Given the description of an element on the screen output the (x, y) to click on. 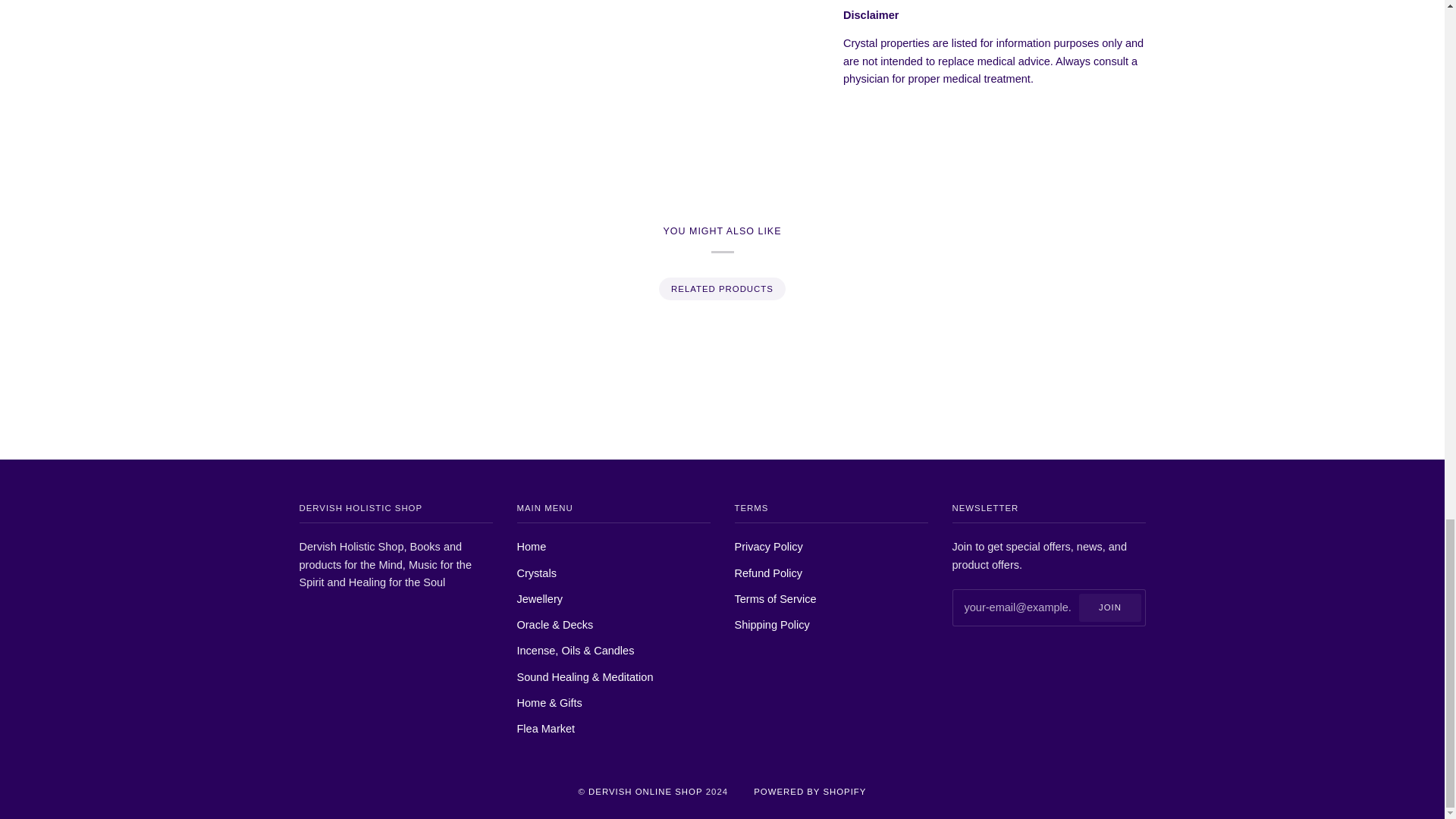
RELATED PRODUCTS (721, 288)
